Given the description of an element on the screen output the (x, y) to click on. 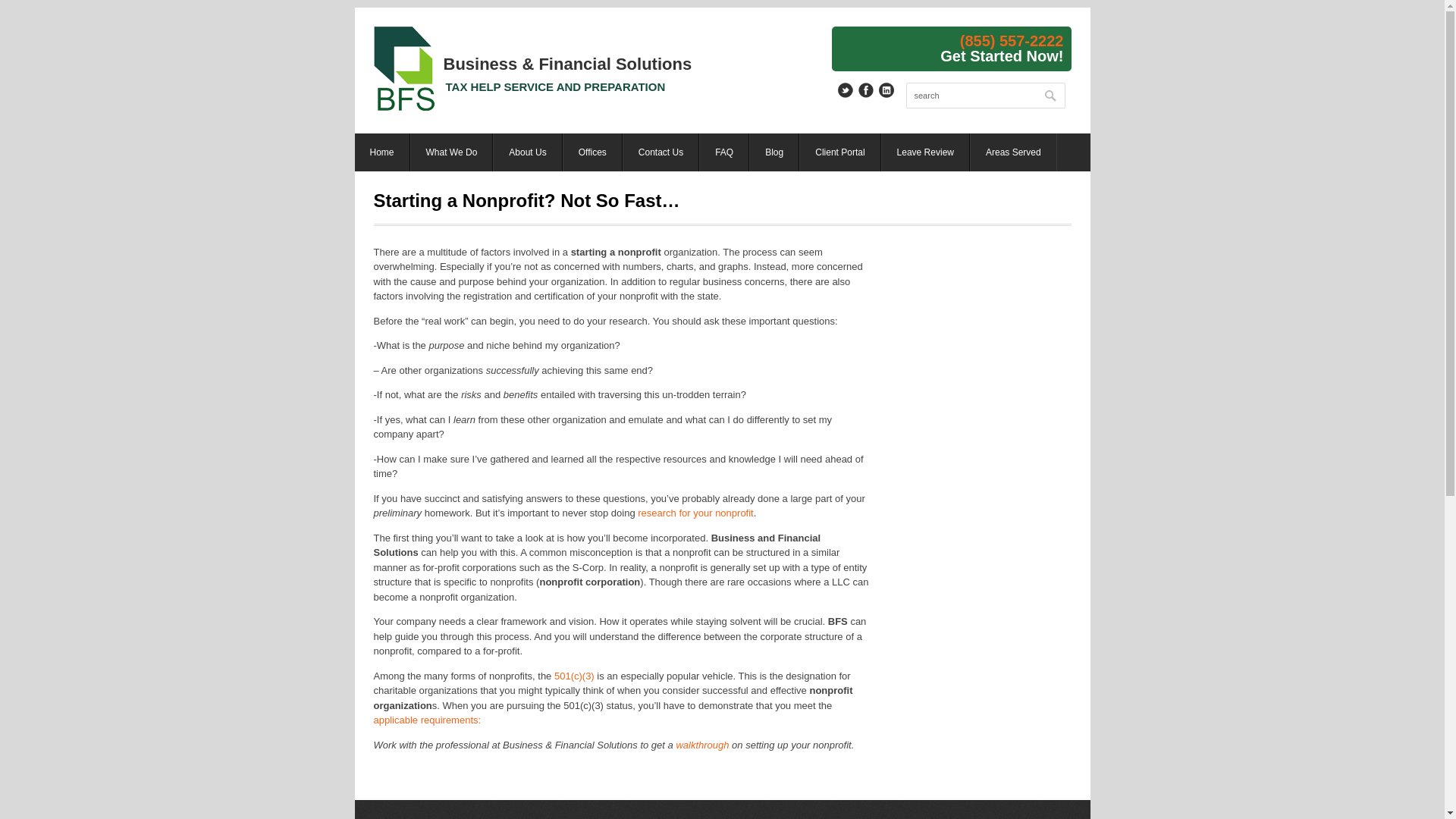
Contact Us (660, 152)
linkedin (885, 89)
About Us (527, 152)
What We Do (451, 152)
twitter (844, 89)
facebook (866, 89)
Home (382, 152)
Offices (592, 152)
search (984, 95)
Get Started Now! (1001, 54)
